Given the description of an element on the screen output the (x, y) to click on. 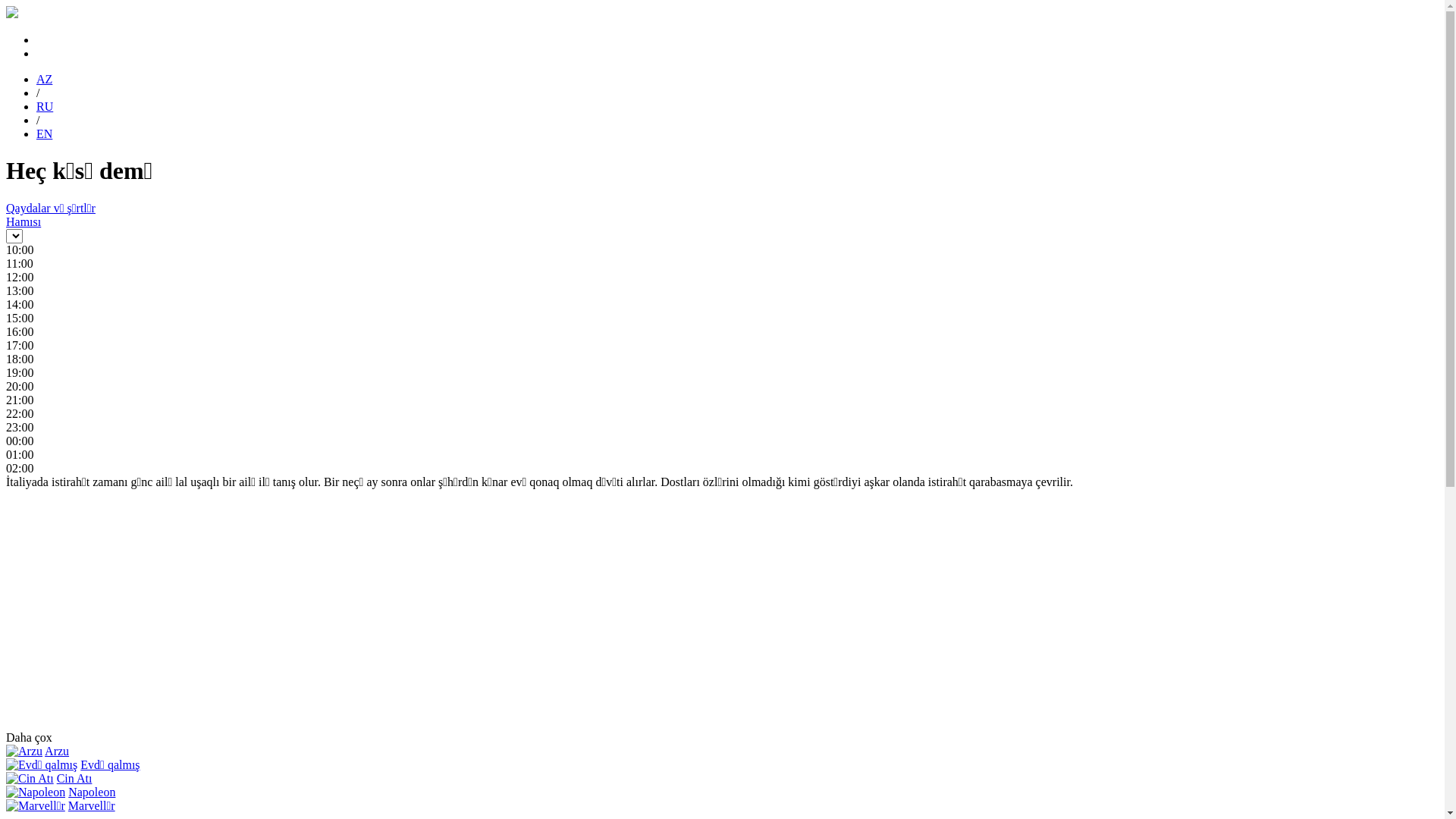
AZ Element type: text (44, 78)
YouTube video player Element type: hover (218, 608)
Napoleon Element type: hover (35, 792)
EN Element type: text (44, 133)
Arzu  Element type: hover (24, 751)
Napoleon Element type: text (91, 791)
RU Element type: text (44, 106)
Arzu Element type: text (56, 750)
